Given the description of an element on the screen output the (x, y) to click on. 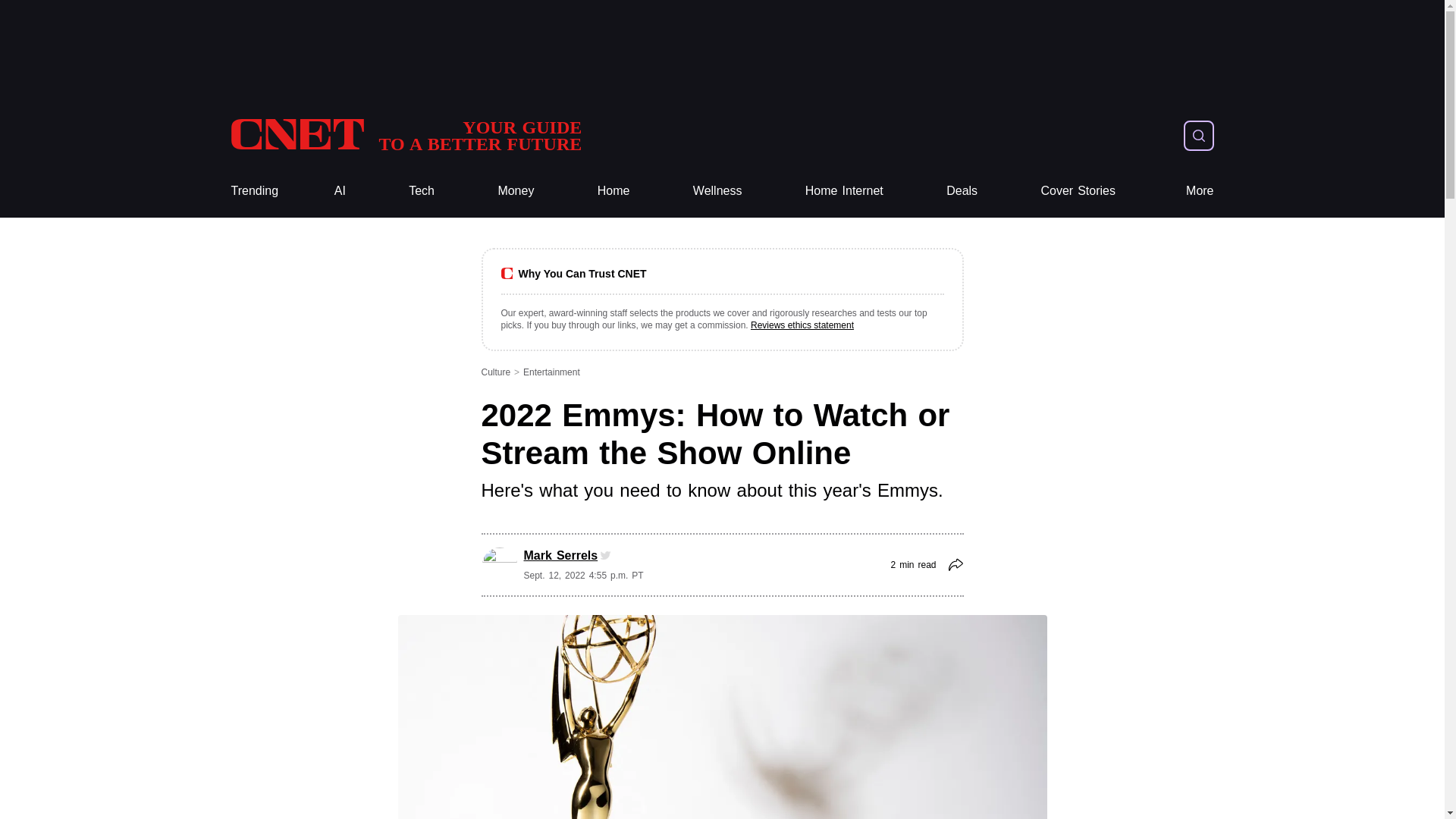
Home (405, 135)
Home Internet (613, 190)
Tech (844, 190)
Money (421, 190)
Home Internet (515, 190)
Home (844, 190)
Wellness (613, 190)
Trending (717, 190)
Tech (254, 190)
